Given the description of an element on the screen output the (x, y) to click on. 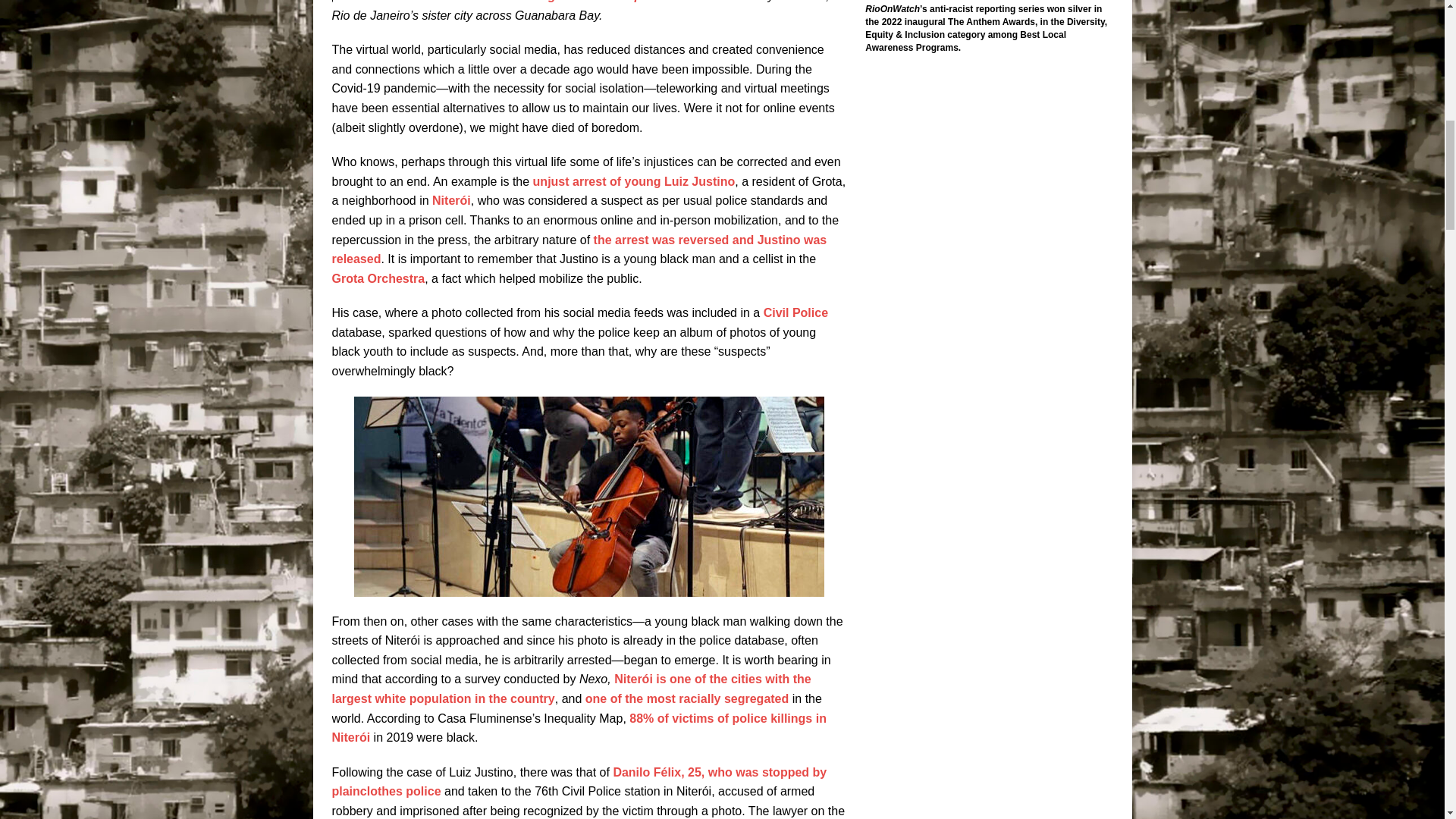
Justino - Personal Archive (588, 496)
